Given the description of an element on the screen output the (x, y) to click on. 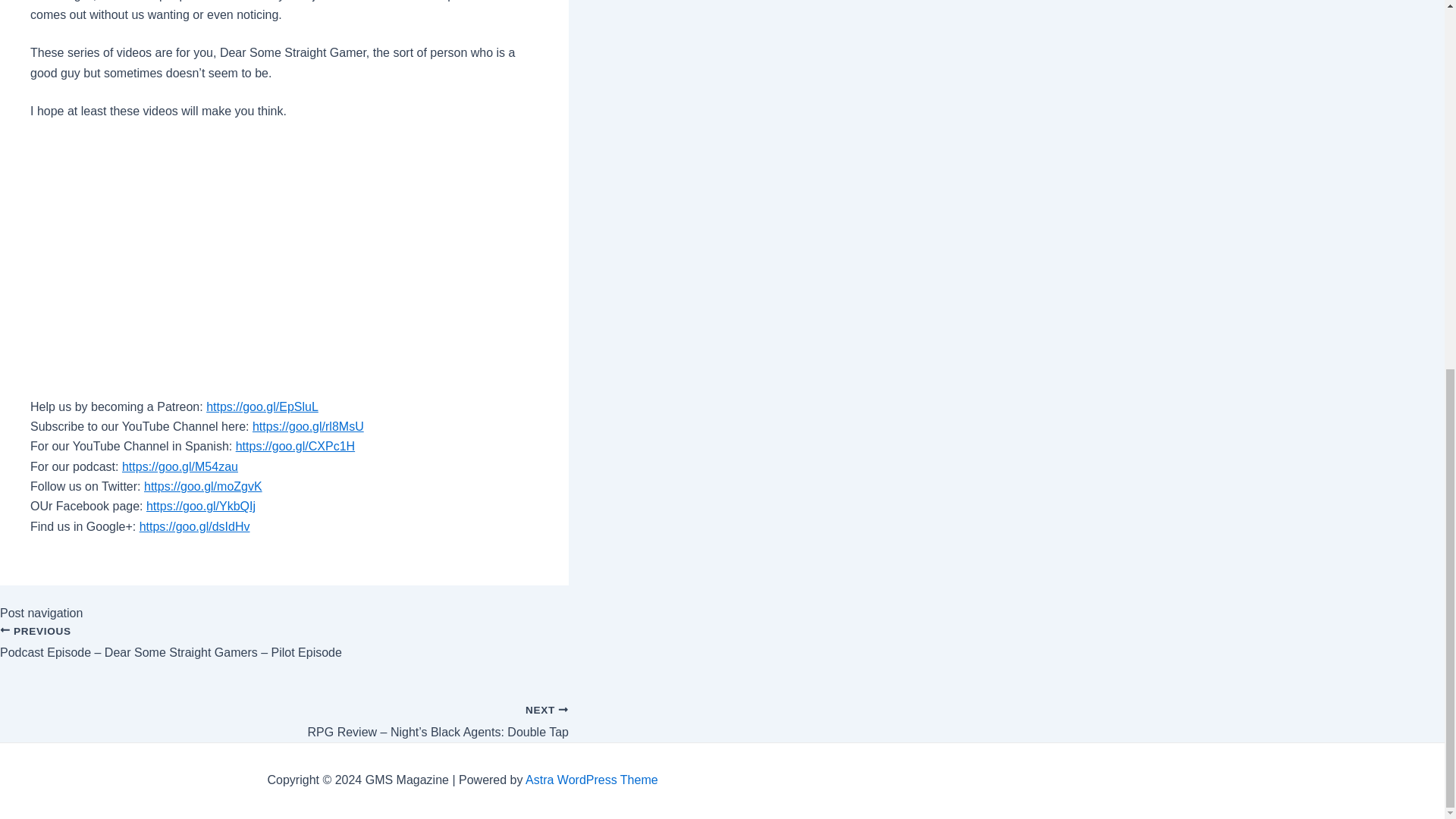
Podcast Episode - Dear Some Straight Gamers - Pilot Episode (284, 651)
Astra WordPress Theme (591, 779)
RPG Review - Night's Black Agents: Double Tap (284, 714)
